Given the description of an element on the screen output the (x, y) to click on. 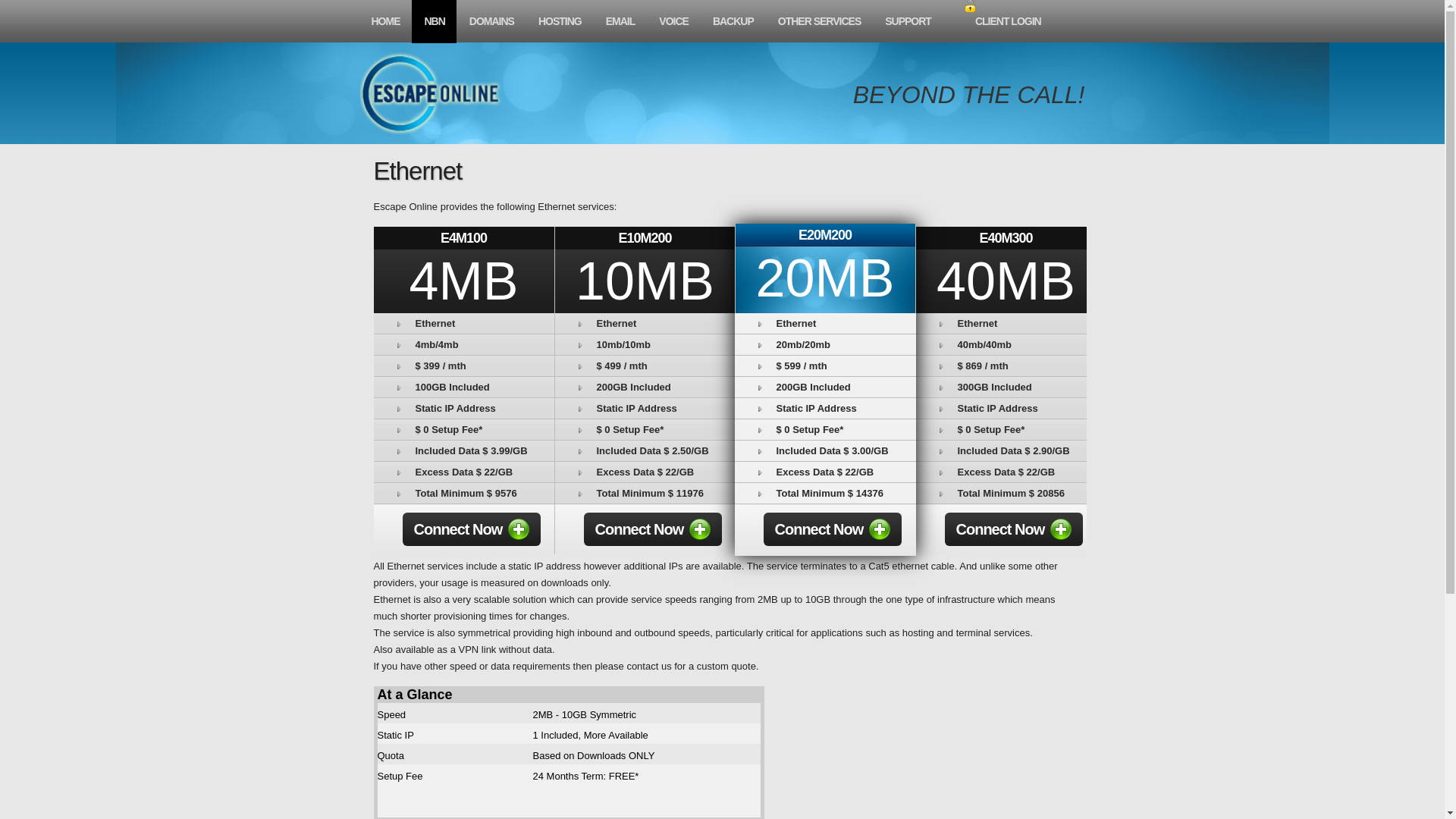
Included Data $ 2.50/GB Element type: text (644, 450)
Connect Now Element type: text (652, 529)
$ 599 / mth Element type: text (824, 365)
Included Data $ 3.99/GB Element type: text (462, 450)
4mb/4mb Element type: text (462, 343)
Static IP Address Element type: text (824, 407)
Excess Data $ 22/GB Element type: text (1005, 471)
$ 0 Setup Fee* Element type: text (644, 428)
HOSTING Element type: text (558, 21)
$ 0 Setup Fee* Element type: text (462, 428)
$ 0 Setup Fee* Element type: text (1005, 428)
300GB Included Element type: text (1005, 386)
Ethernet Element type: text (824, 322)
HOME Element type: text (385, 21)
200GB Included Element type: text (644, 386)
Excess Data $ 22/GB Element type: text (462, 471)
Included Data $ 3.00/GB Element type: text (824, 450)
Total Minimum $ 9576 Element type: text (462, 492)
Excess Data $ 22/GB Element type: text (824, 471)
Total Minimum $ 20856 Element type: text (1005, 492)
20mb/20mb Element type: text (824, 343)
40mb/40mb Element type: text (1005, 343)
BACKUP Element type: text (732, 21)
Static IP Address Element type: text (1005, 407)
$ 0 Setup Fee* Element type: text (824, 428)
Connect Now Element type: text (831, 529)
NBN Element type: text (434, 21)
Total Minimum $ 11976 Element type: text (644, 492)
Connect Now Element type: text (470, 529)
Connect Now Element type: text (1013, 529)
OTHER SERVICES Element type: text (818, 21)
$ 499 / mth Element type: text (644, 365)
Ethernet Element type: text (1005, 322)
VOICE Element type: text (672, 21)
Static IP Address Element type: text (644, 407)
EMAIL Element type: text (619, 21)
Static IP Address Element type: text (462, 407)
$ 869 / mth Element type: text (1005, 365)
Included Data $ 2.90/GB Element type: text (1005, 450)
10mb/10mb Element type: text (644, 343)
SUPPORT Element type: text (907, 21)
DOMAINS Element type: text (490, 21)
Total Minimum $ 14376 Element type: text (824, 492)
200GB Included Element type: text (824, 386)
Excess Data $ 22/GB Element type: text (644, 471)
$ 399 / mth Element type: text (462, 365)
Ethernet Element type: text (644, 322)
Ethernet Element type: text (462, 322)
100GB Included Element type: text (462, 386)
